Given the description of an element on the screen output the (x, y) to click on. 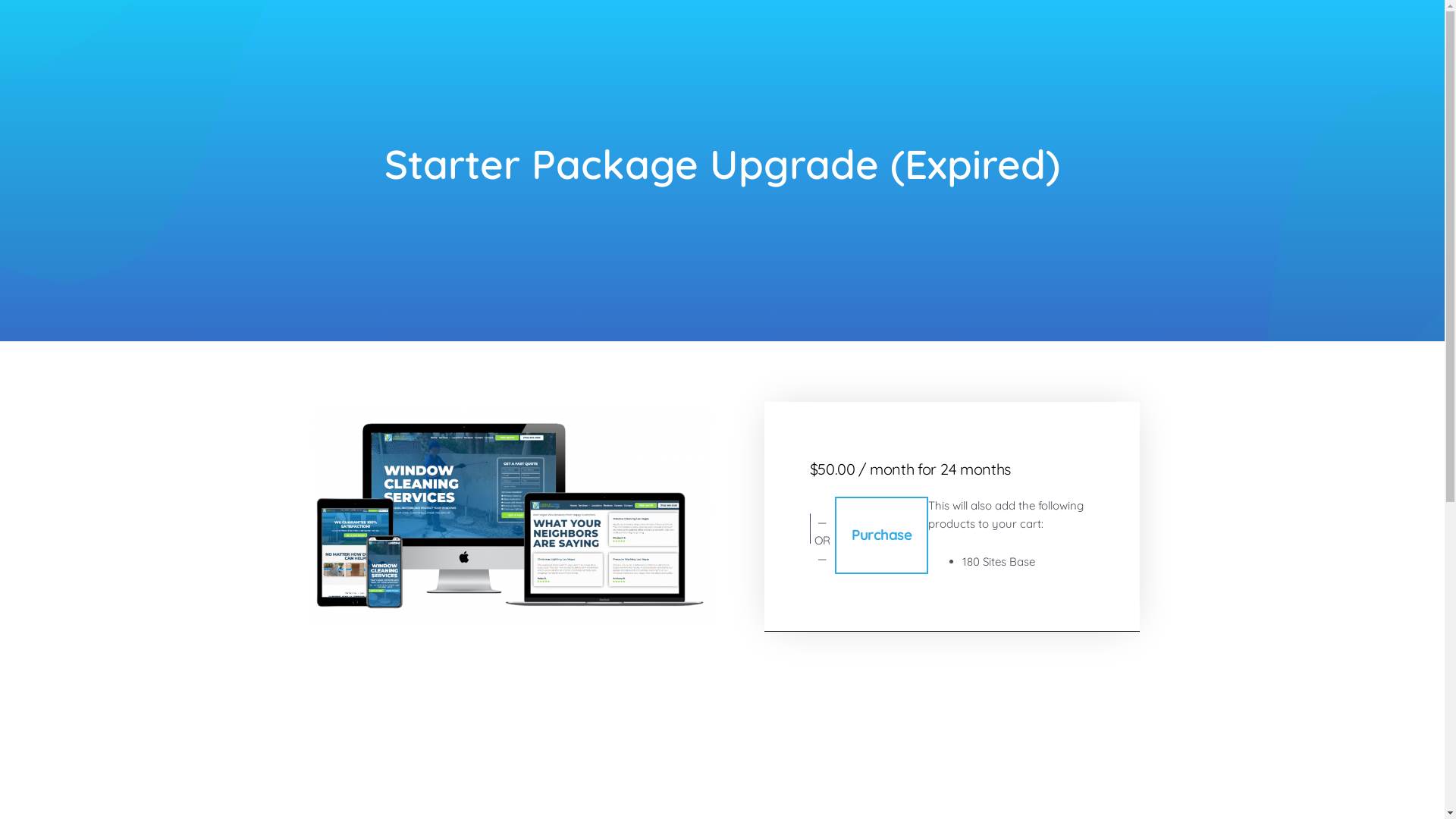
Purchase Element type: text (881, 535)
Secure payment button frame Element type: hover (809, 528)
